Given the description of an element on the screen output the (x, y) to click on. 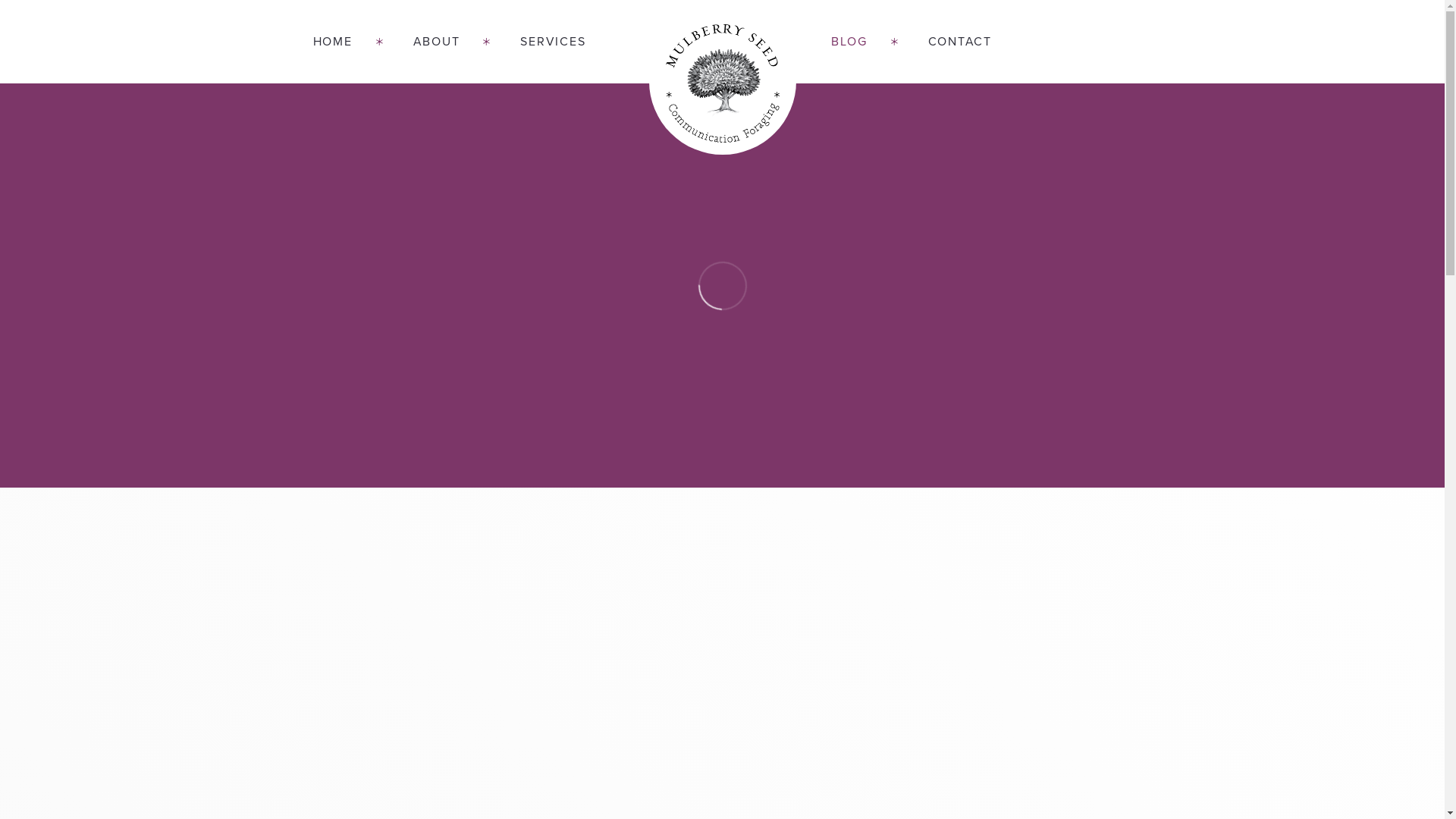
HOME Element type: text (347, 41)
SERVICES Element type: text (537, 41)
CONTACT Element type: text (944, 41)
BLOG Element type: text (848, 41)
ABOUT Element type: text (436, 41)
